Given the description of an element on the screen output the (x, y) to click on. 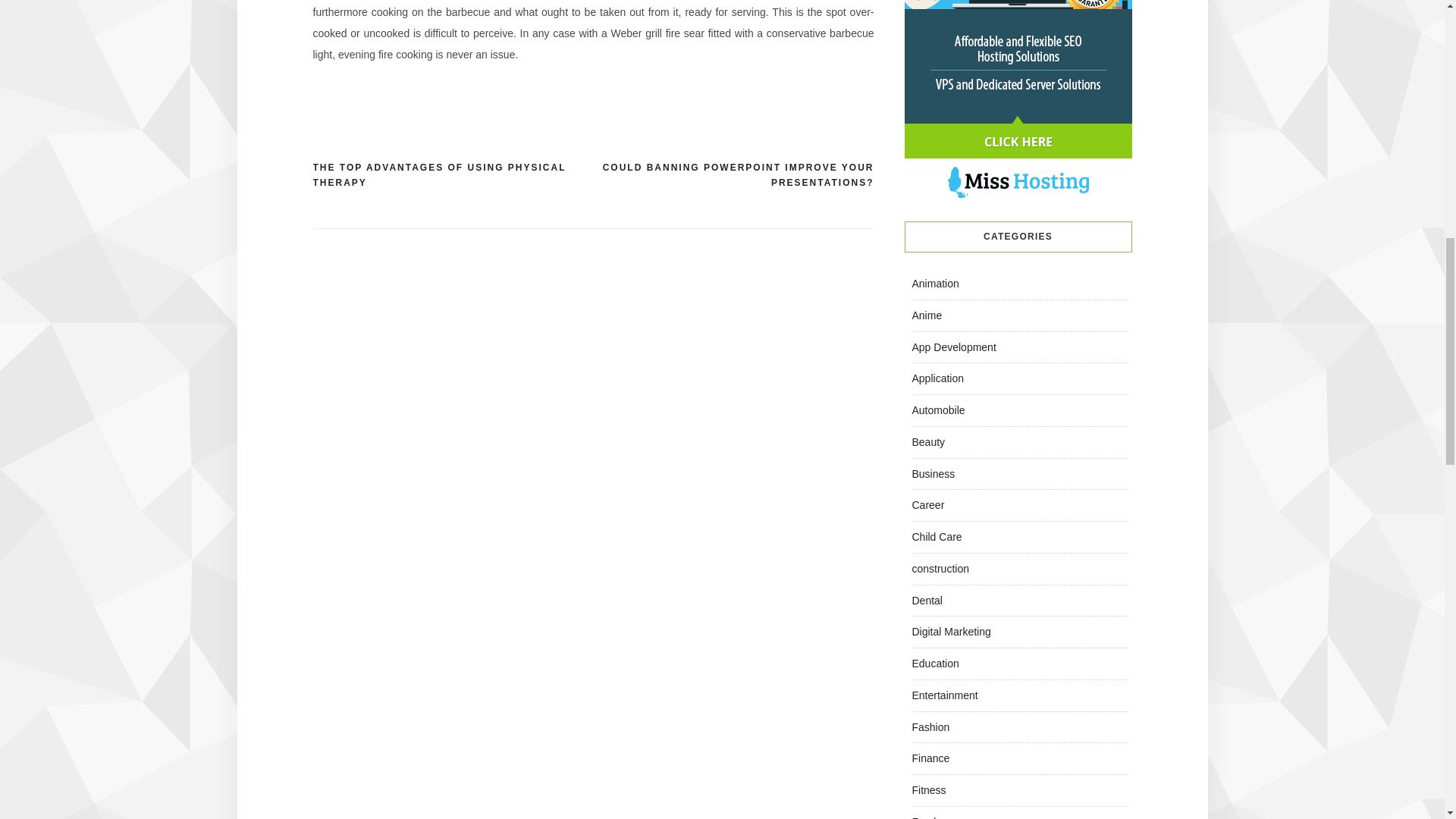
Business (933, 472)
Anime (926, 315)
Application (937, 378)
Entertainment (943, 695)
construction (939, 568)
THE TOP ADVANTAGES OF USING PHYSICAL THERAPY (452, 175)
Digital Marketing (950, 631)
Animation (934, 283)
Education (934, 663)
Dental (926, 600)
Child Care (935, 536)
Beauty (927, 441)
COULD BANNING POWERPOINT IMPROVE YOUR PRESENTATIONS? (732, 175)
App Development (953, 346)
Finance (930, 758)
